Given the description of an element on the screen output the (x, y) to click on. 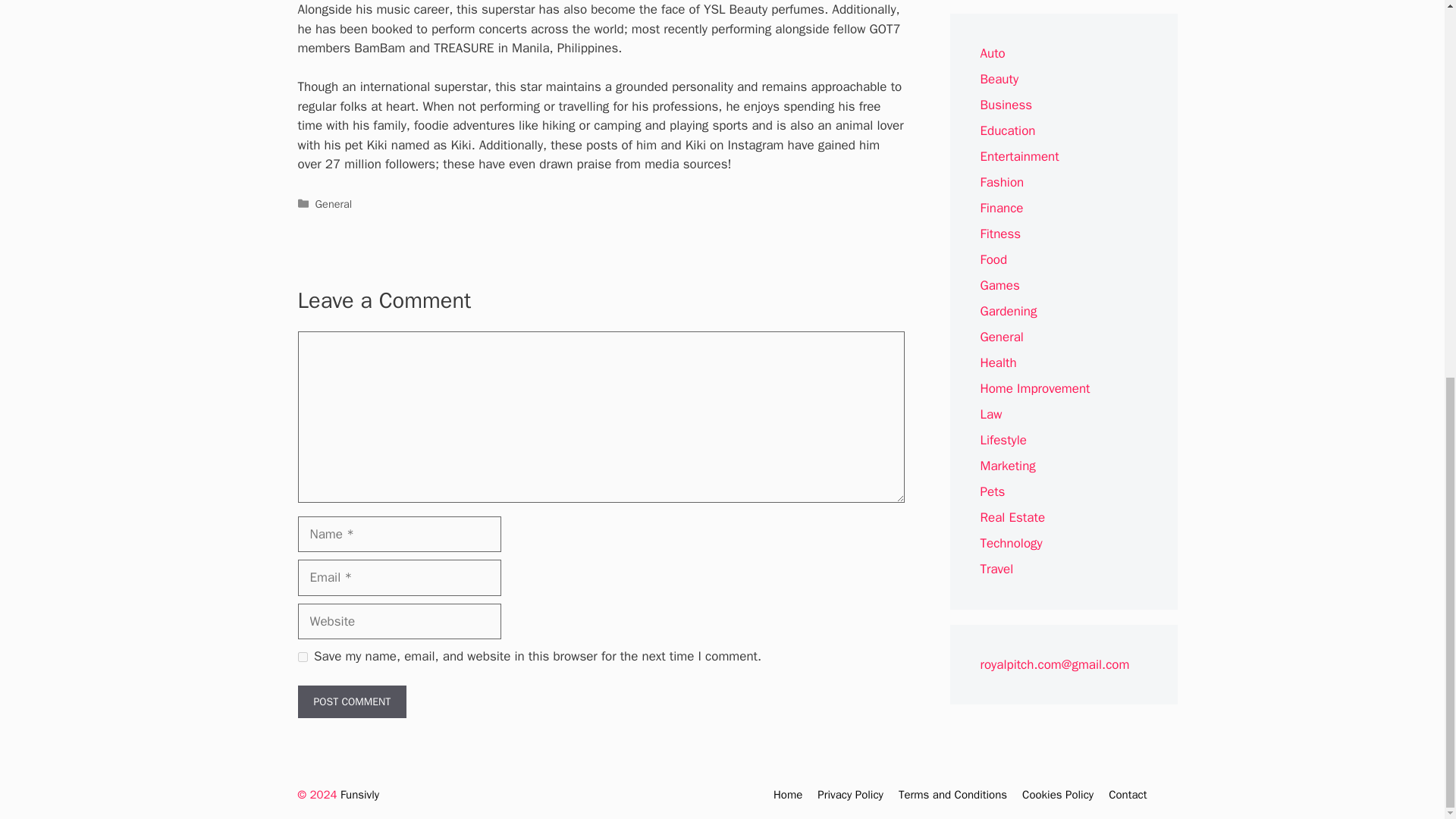
Gardening (1007, 311)
Entertainment (1018, 156)
yes (302, 656)
Post Comment (351, 701)
Home Improvement (1034, 388)
Food (993, 259)
Law (990, 414)
Lifestyle (1002, 439)
Fashion (1001, 182)
General (333, 203)
Finance (1001, 207)
Business (1005, 105)
Health (997, 362)
Marketing (1007, 465)
General (1001, 336)
